Given the description of an element on the screen output the (x, y) to click on. 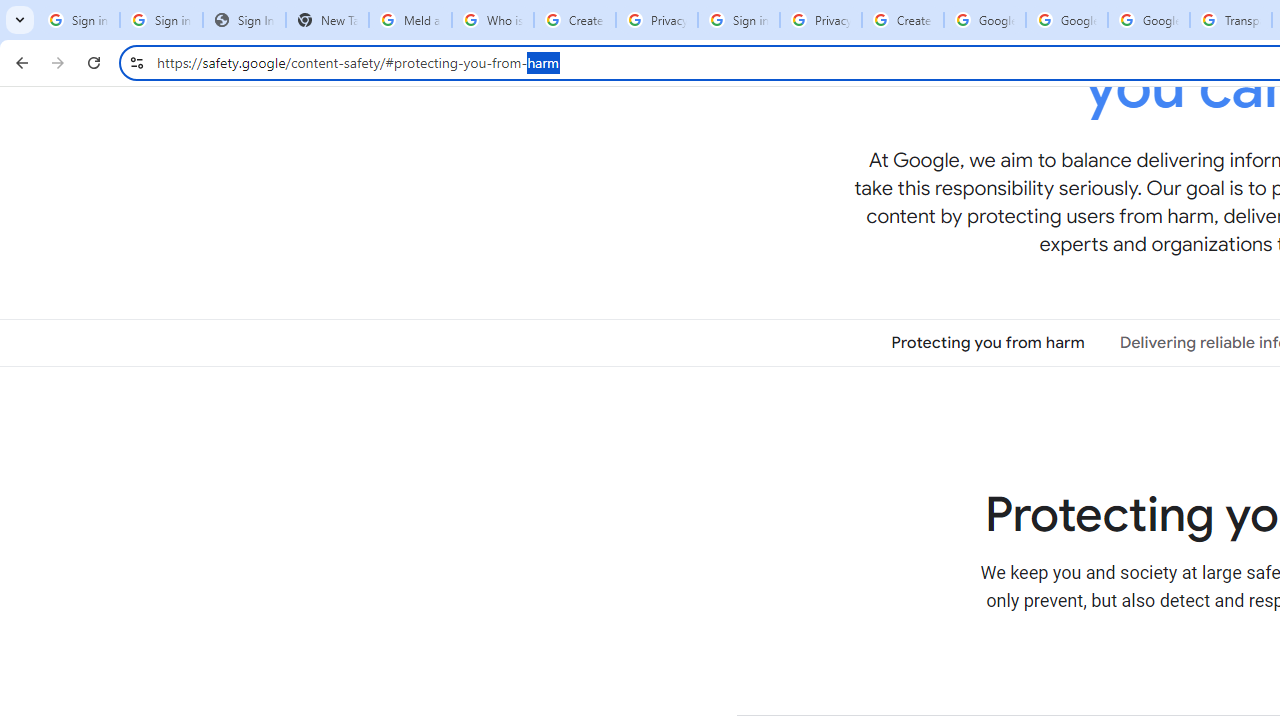
Protecting you from harm (987, 343)
Create your Google Account (902, 20)
